Given the description of an element on the screen output the (x, y) to click on. 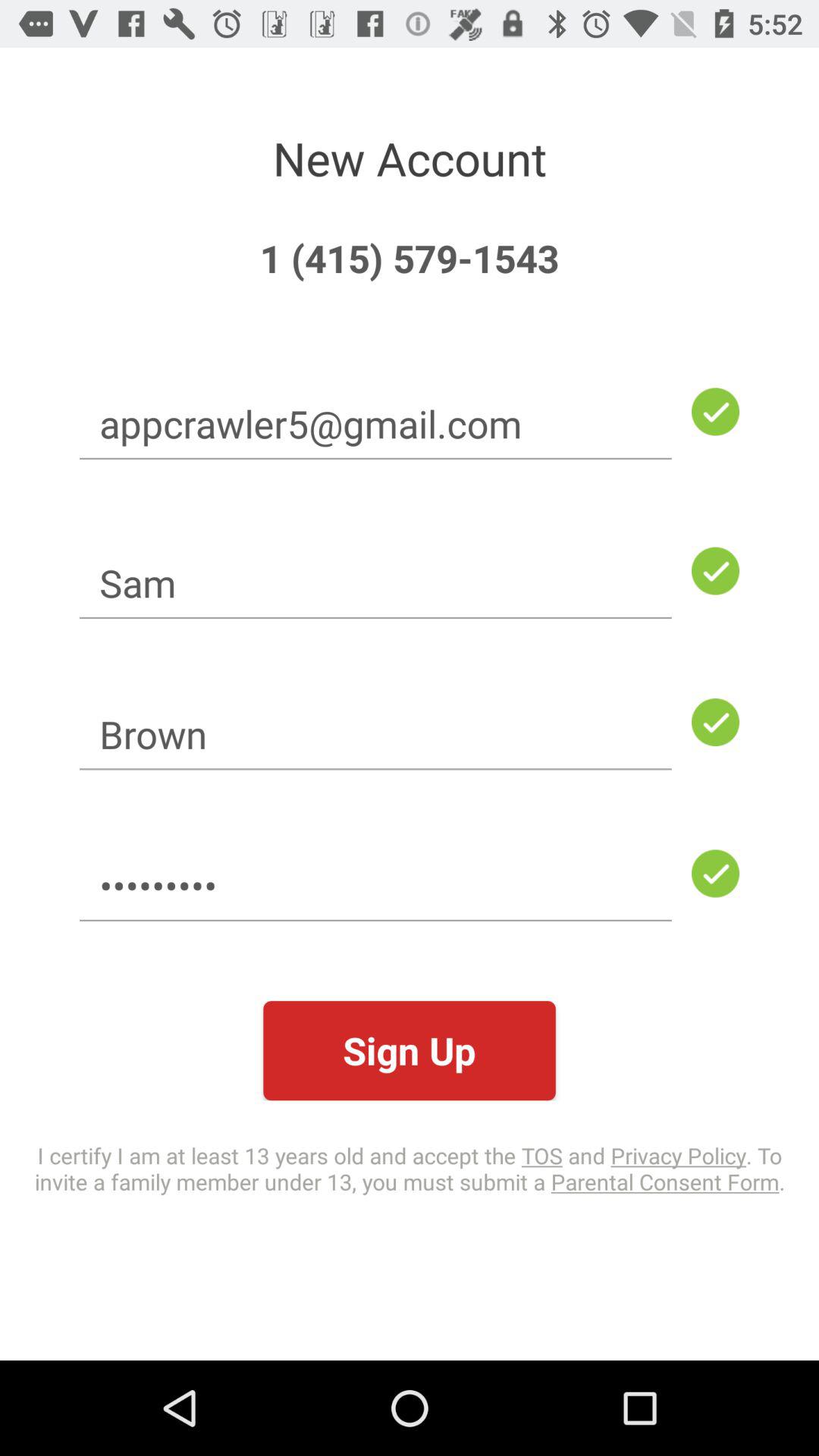
turn off item below the 1 415 579 item (375, 423)
